Given the description of an element on the screen output the (x, y) to click on. 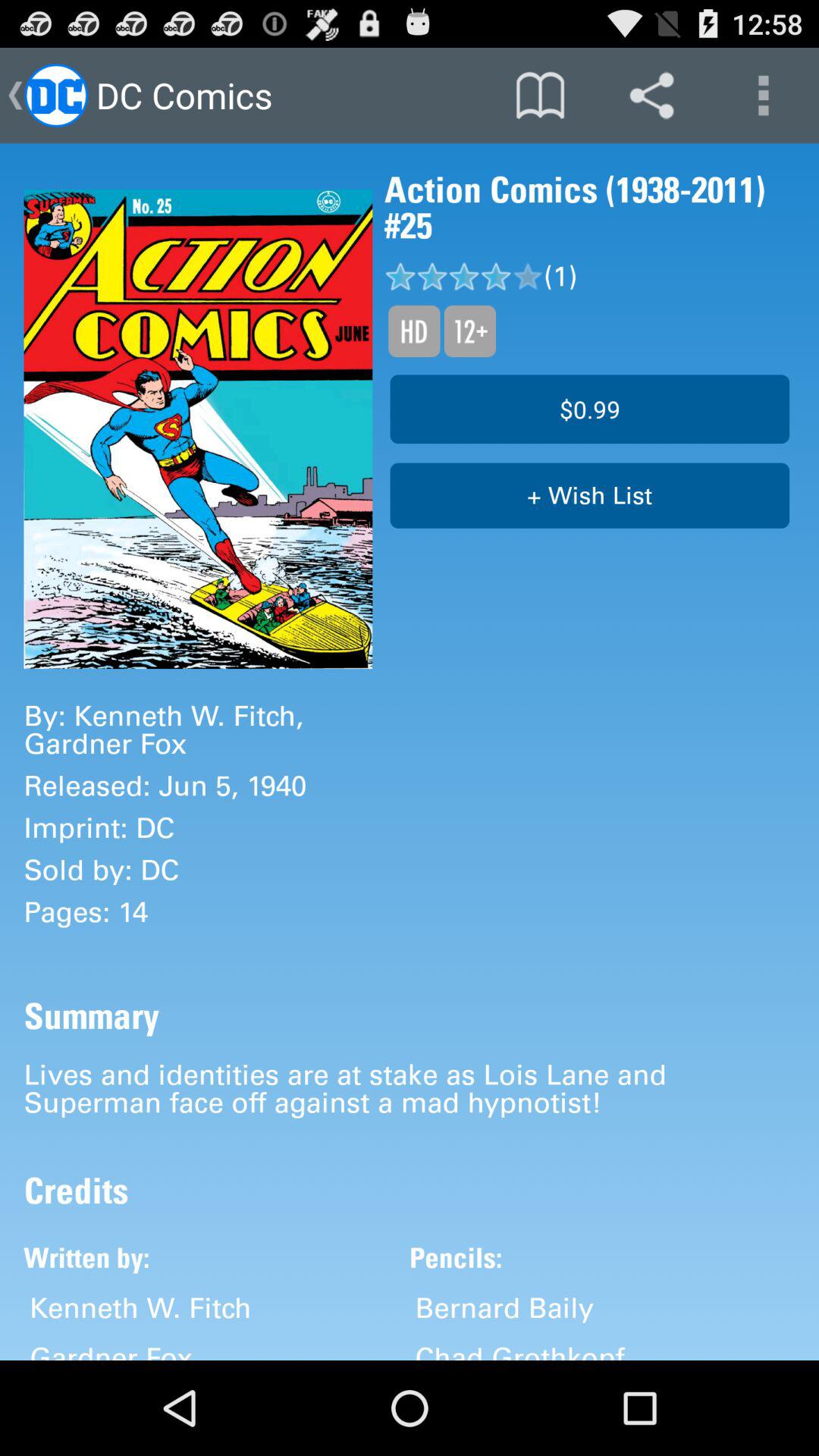
choose icon above by kenneth w icon (197, 429)
